Given the description of an element on the screen output the (x, y) to click on. 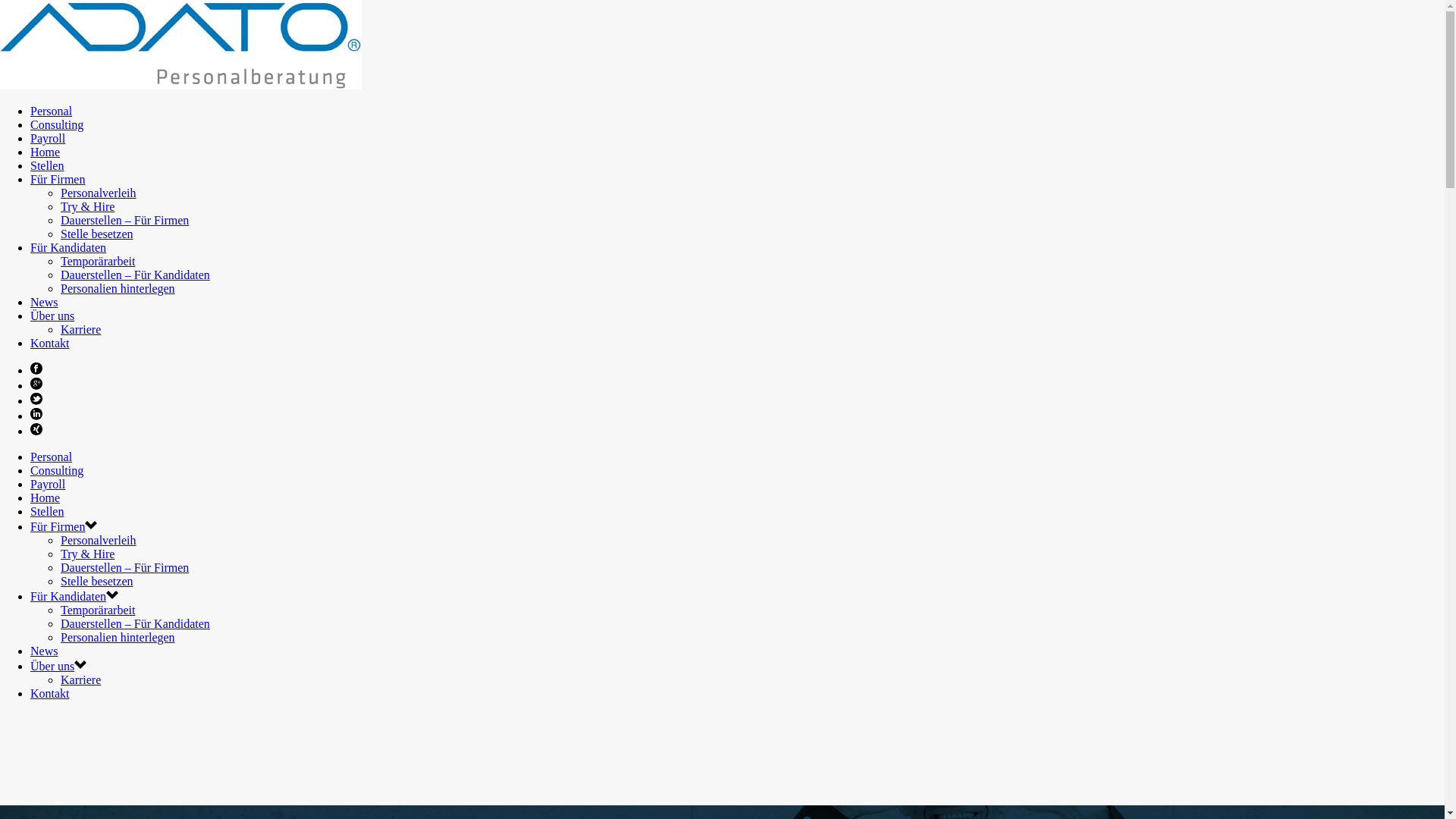
Consulting Element type: text (56, 470)
Stellen Element type: text (46, 165)
Consulting Element type: text (56, 124)
Kontakt Element type: text (49, 342)
Payroll Element type: text (47, 483)
Karriere Element type: text (80, 329)
Try & Hire Element type: text (87, 206)
Personal Element type: text (51, 456)
News Element type: text (43, 301)
Personalverleih Element type: text (98, 192)
Payroll Element type: text (47, 137)
Karriere Element type: text (80, 679)
Stelle besetzen Element type: text (96, 233)
Stellen Element type: text (46, 511)
Personalverleih Element type: text (98, 539)
Kontakt Element type: text (49, 693)
Personal Element type: text (51, 110)
News Element type: text (43, 650)
Personalien hinterlegen Element type: text (117, 288)
Try & Hire Element type: text (87, 553)
Home Element type: text (44, 497)
Stelle besetzen Element type: text (96, 580)
adato.ch Element type: hover (180, 84)
Home Element type: text (44, 151)
Personalien hinterlegen Element type: text (117, 636)
